Given the description of an element on the screen output the (x, y) to click on. 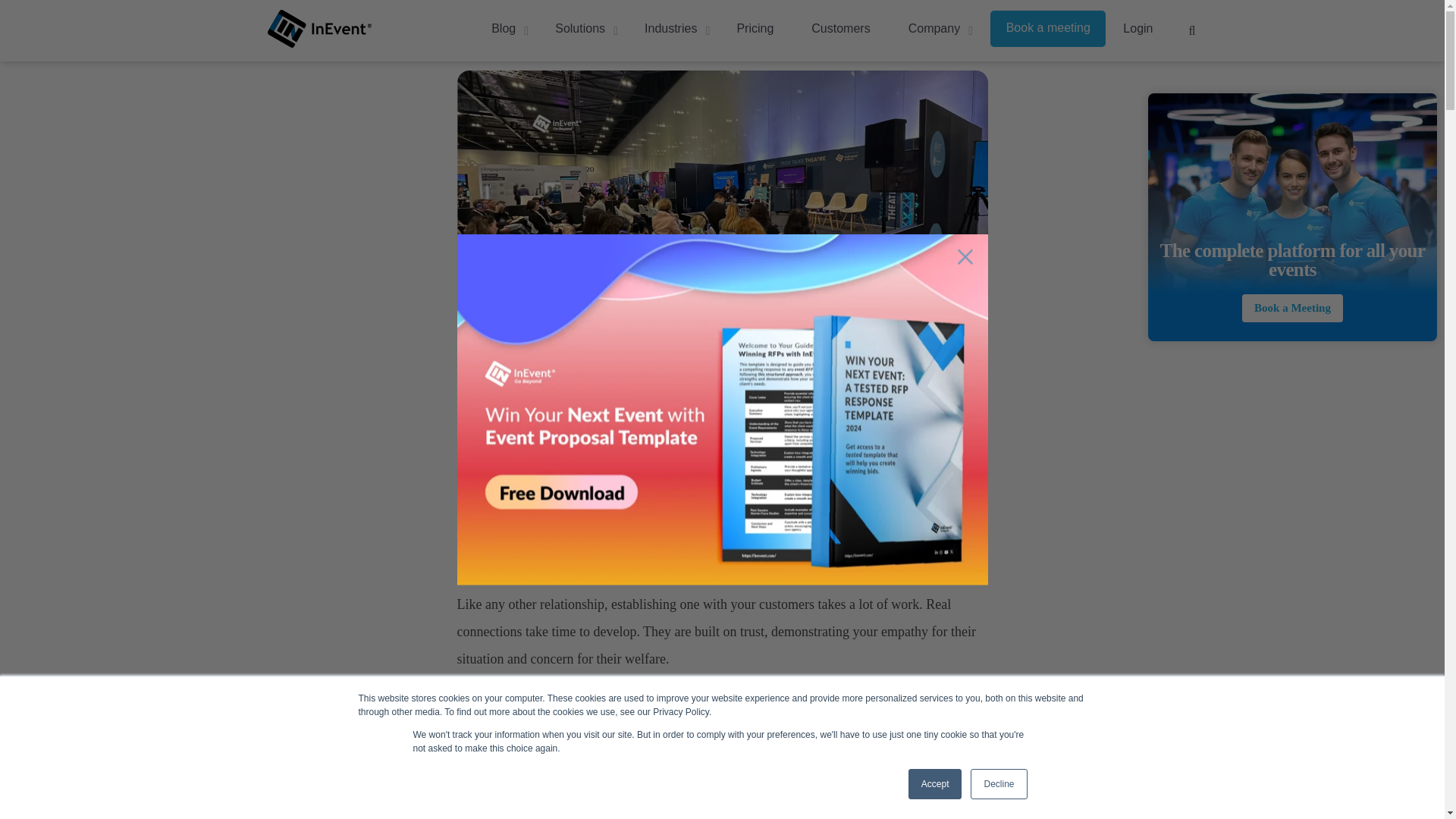
Industries (671, 26)
Blog (504, 26)
Decline (998, 784)
Solutions (580, 26)
Accept (935, 784)
